Given the description of an element on the screen output the (x, y) to click on. 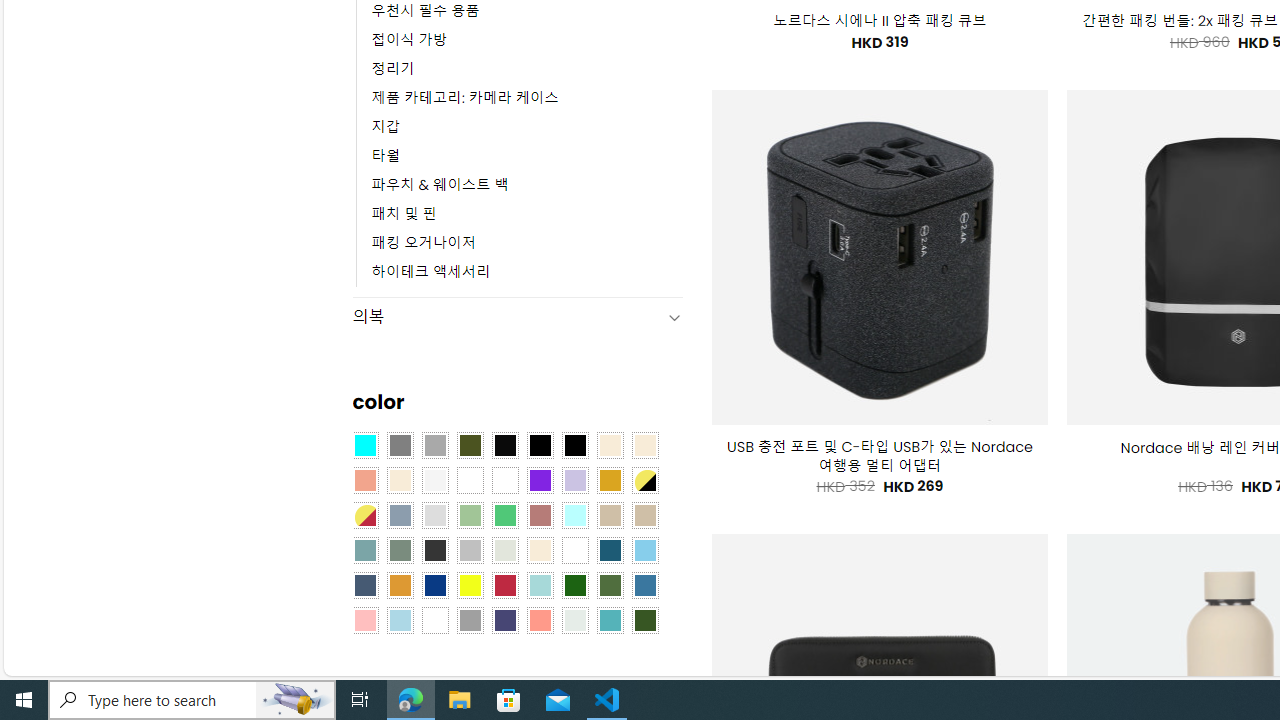
Kelp (504, 480)
